Given the description of an element on the screen output the (x, y) to click on. 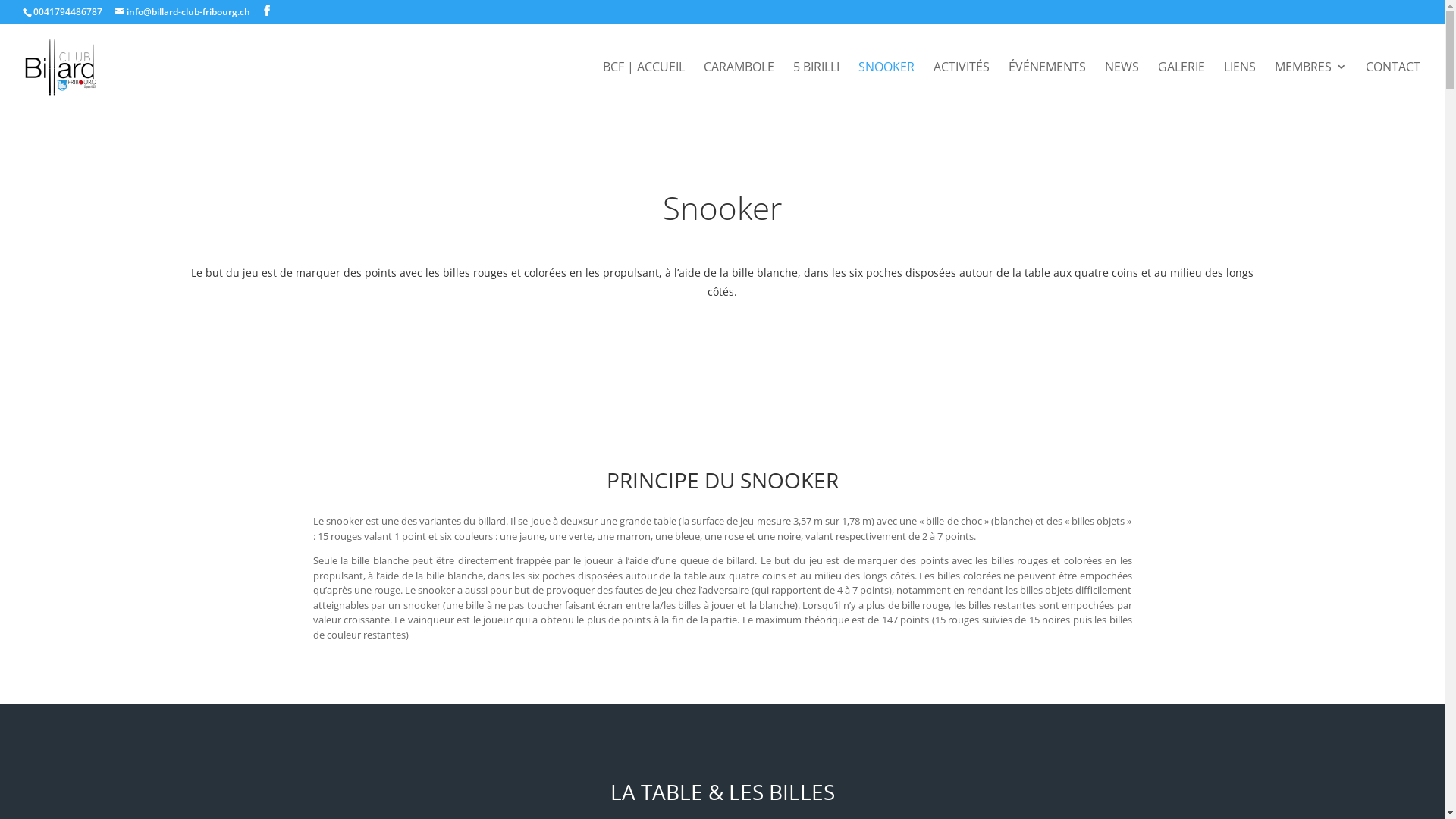
CARAMBOLE Element type: text (738, 85)
SNOOKER Element type: text (886, 85)
info@billard-club-fribourg.ch Element type: text (182, 11)
NEWS Element type: text (1121, 85)
5 BIRILLI Element type: text (816, 85)
GALERIE Element type: text (1180, 85)
MEMBRES Element type: text (1310, 85)
BCF | ACCUEIL Element type: text (643, 85)
LIENS Element type: text (1239, 85)
CONTACT Element type: text (1392, 85)
